Given the description of an element on the screen output the (x, y) to click on. 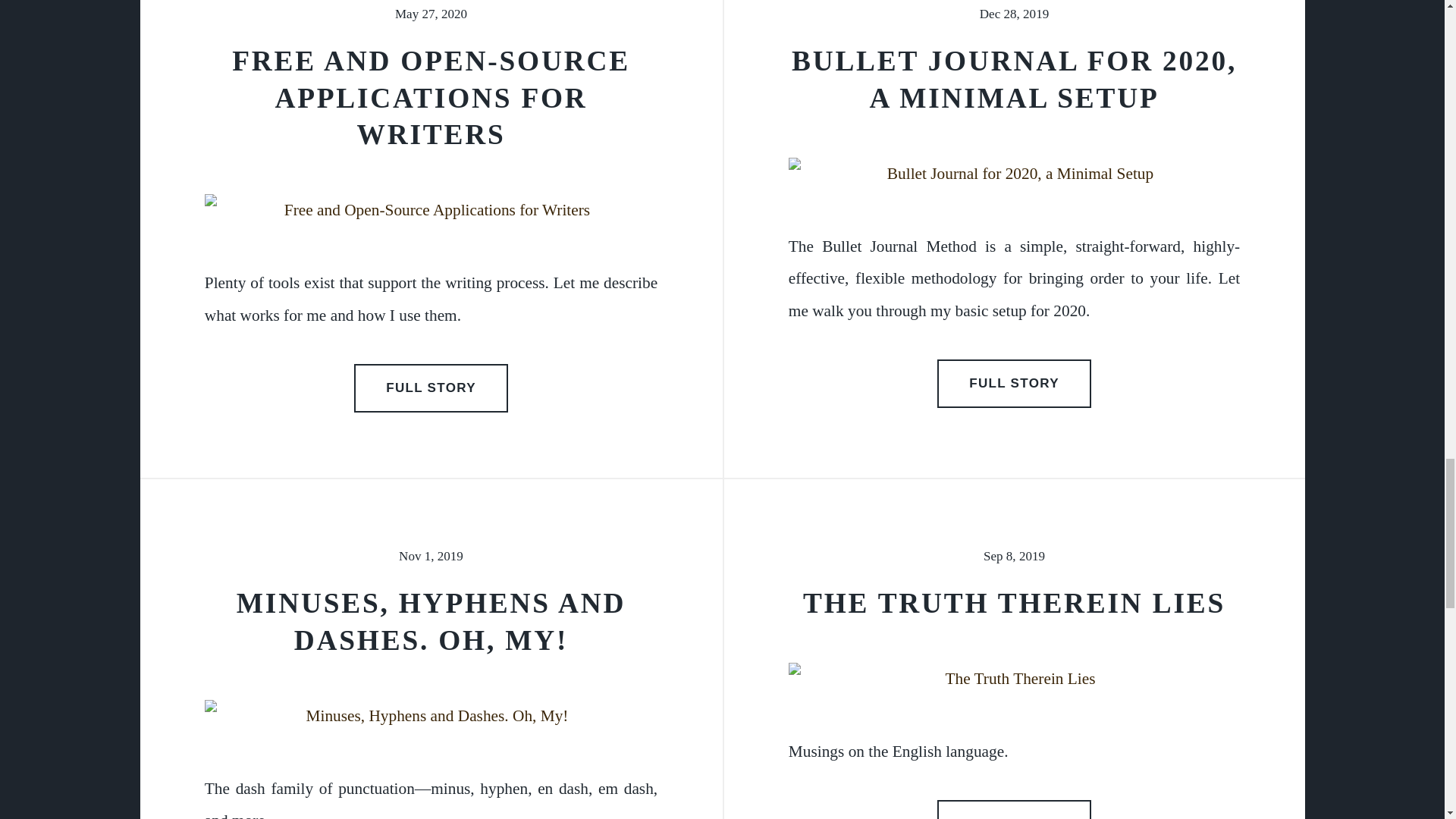
THE TRUTH THEREIN LIES (1014, 603)
BULLET JOURNAL FOR 2020, A MINIMAL SETUP (1014, 79)
FULL STORY (1014, 809)
FREE AND OPEN-SOURCE APPLICATIONS FOR WRITERS (430, 97)
FULL STORY (1014, 383)
MINUSES, HYPHENS AND DASHES. OH, MY! (430, 622)
FULL STORY (430, 387)
